Given the description of an element on the screen output the (x, y) to click on. 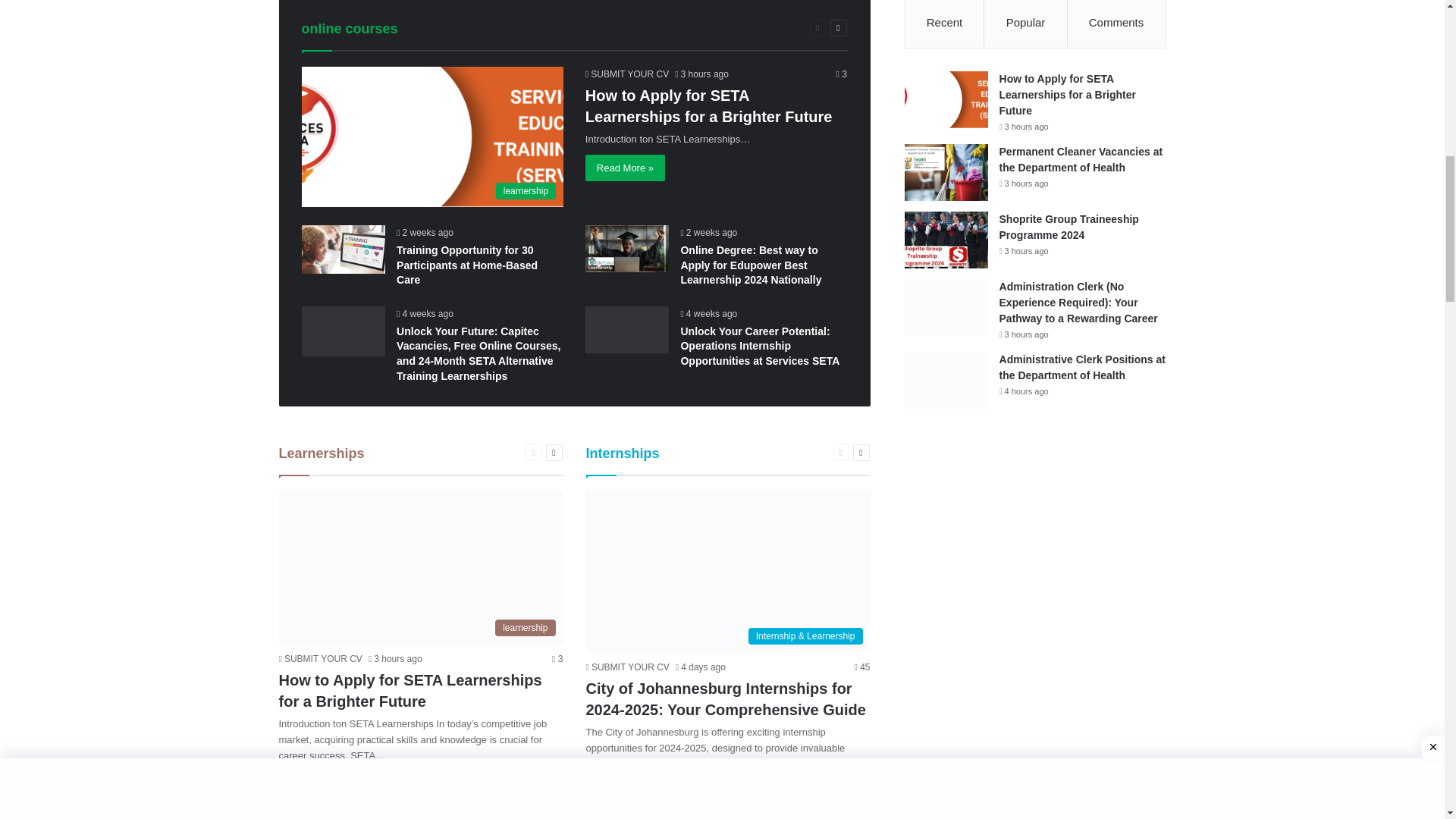
SUBMIT YOUR CV (320, 658)
SUBMIT YOUR CV (626, 73)
SUBMIT YOUR CV (626, 666)
